Given the description of an element on the screen output the (x, y) to click on. 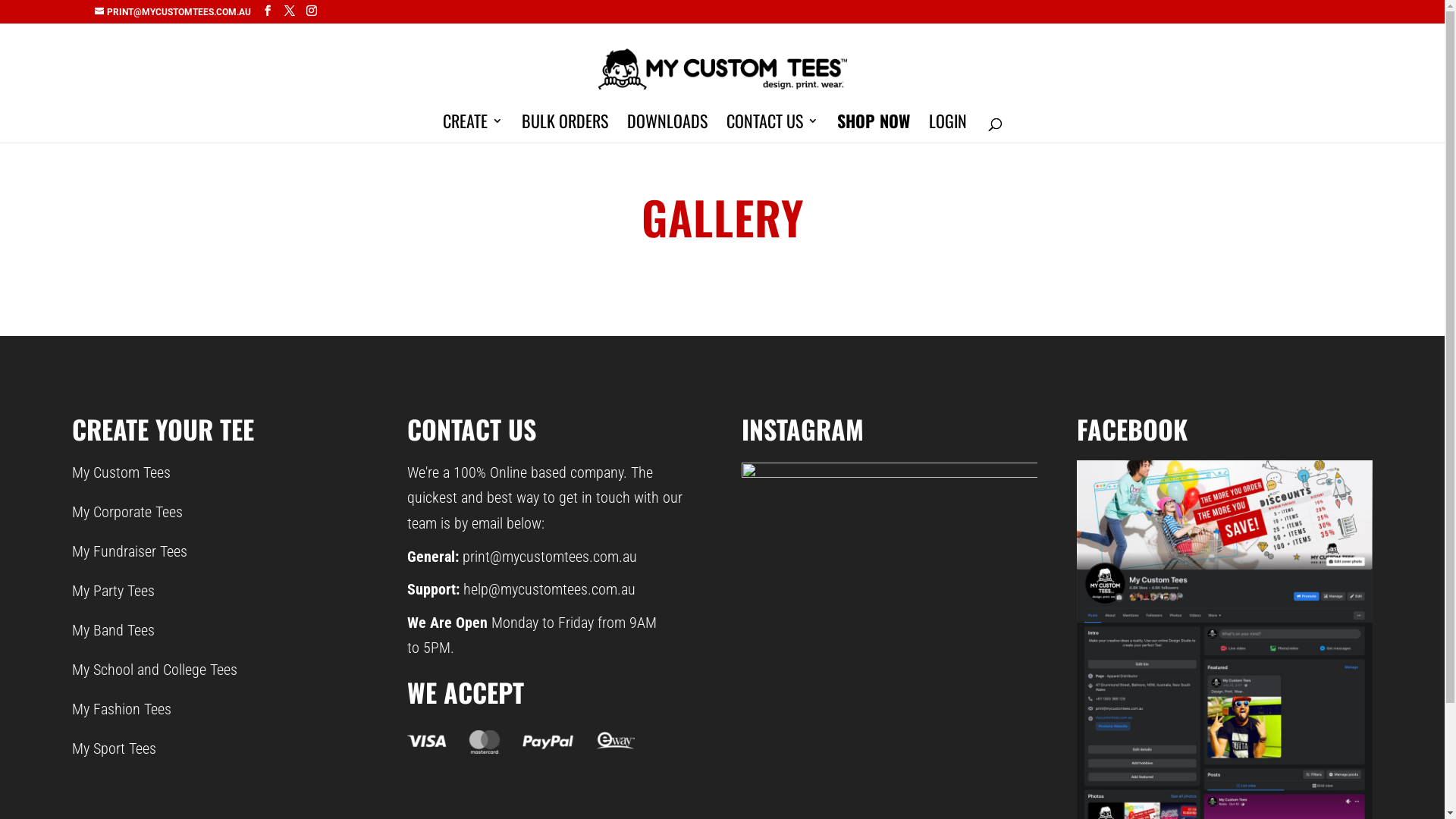
My Corporate Tees Element type: text (127, 511)
LOGIN Element type: text (947, 128)
My Sport Tees Element type: text (114, 748)
CREATE Element type: text (472, 128)
My Band Tees Element type: text (113, 630)
CONTACT US Element type: text (772, 128)
DOWNLOADS Element type: text (667, 128)
PRINT@MYCUSTOMTEES.COM.AU Element type: text (172, 11)
help@mycustomtees.com.au Element type: text (549, 589)
My Fashion Tees Element type: text (121, 708)
My Fundraiser Tees Element type: text (129, 551)
My Party Tees Element type: text (113, 590)
My Custom Tees Element type: text (121, 472)
print@mycustomtees.com.au Element type: text (549, 556)
SHOP NOW Element type: text (873, 128)
My School and College Tees Element type: text (154, 669)
BULK ORDERS Element type: text (564, 128)
